Given the description of an element on the screen output the (x, y) to click on. 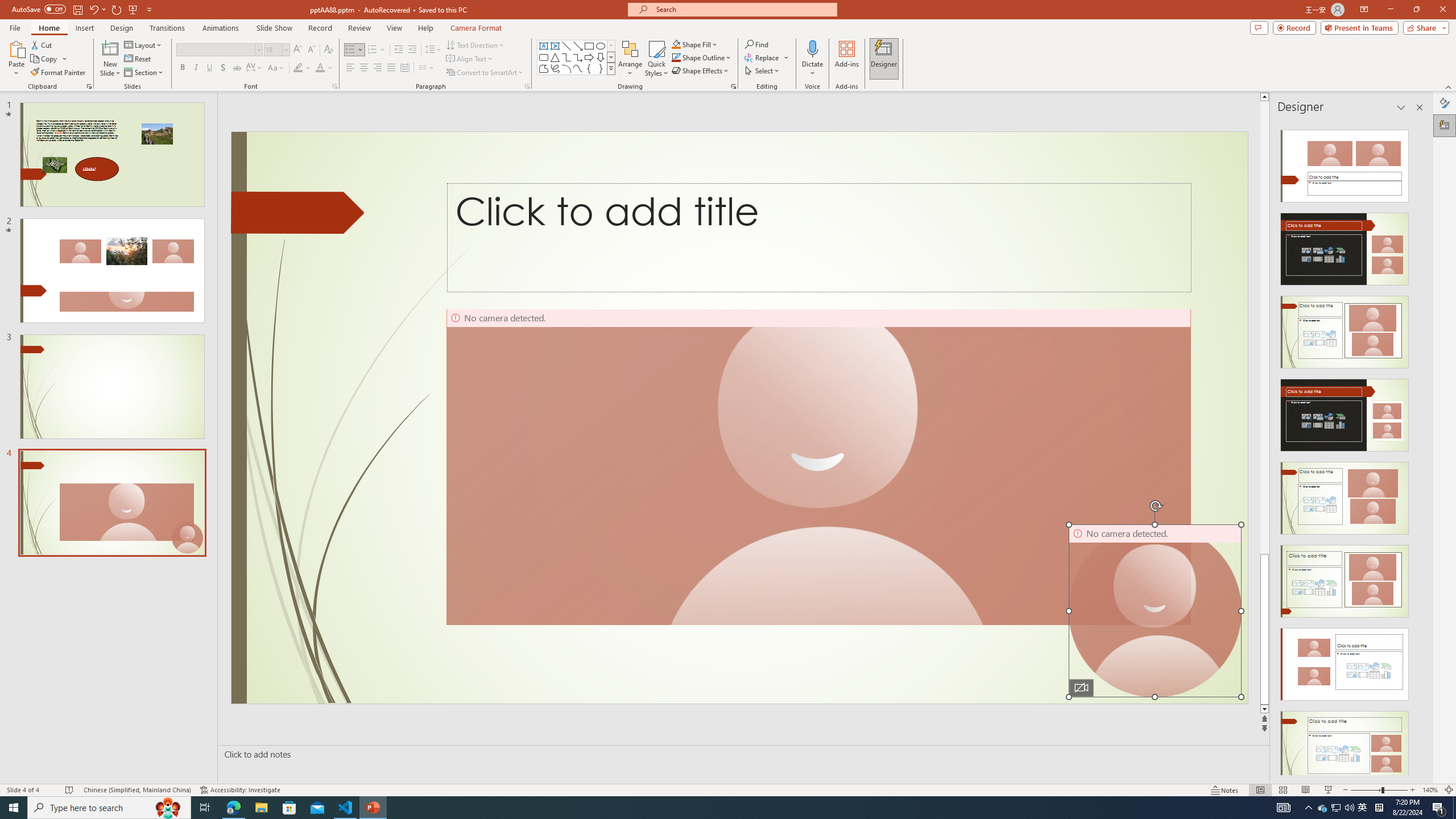
More Options (812, 68)
Freeform: Scribble (554, 68)
Recommended Design: Design Idea (1344, 162)
Notes  (1225, 790)
Row up (611, 45)
Microsoft search (742, 9)
Row Down (611, 56)
Zoom to Fit  (1449, 790)
Connector: Elbow (566, 57)
Line (566, 45)
Class: NetUIImage (610, 68)
Restore Down (1416, 9)
Shape Outline (701, 56)
Save (77, 9)
Center (363, 67)
